Given the description of an element on the screen output the (x, y) to click on. 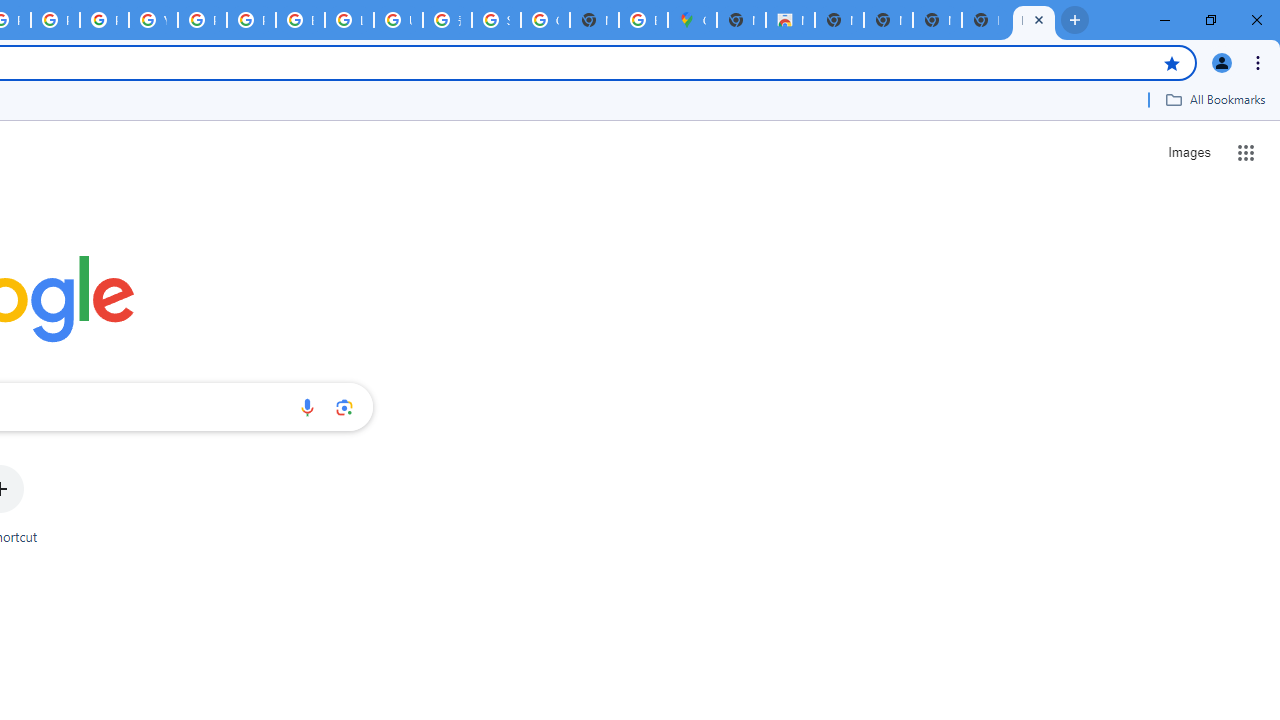
All Bookmarks (1215, 99)
Privacy Help Center - Policies Help (55, 20)
Search by image (344, 407)
Google Maps (692, 20)
YouTube (153, 20)
Search by voice (307, 407)
